Given the description of an element on the screen output the (x, y) to click on. 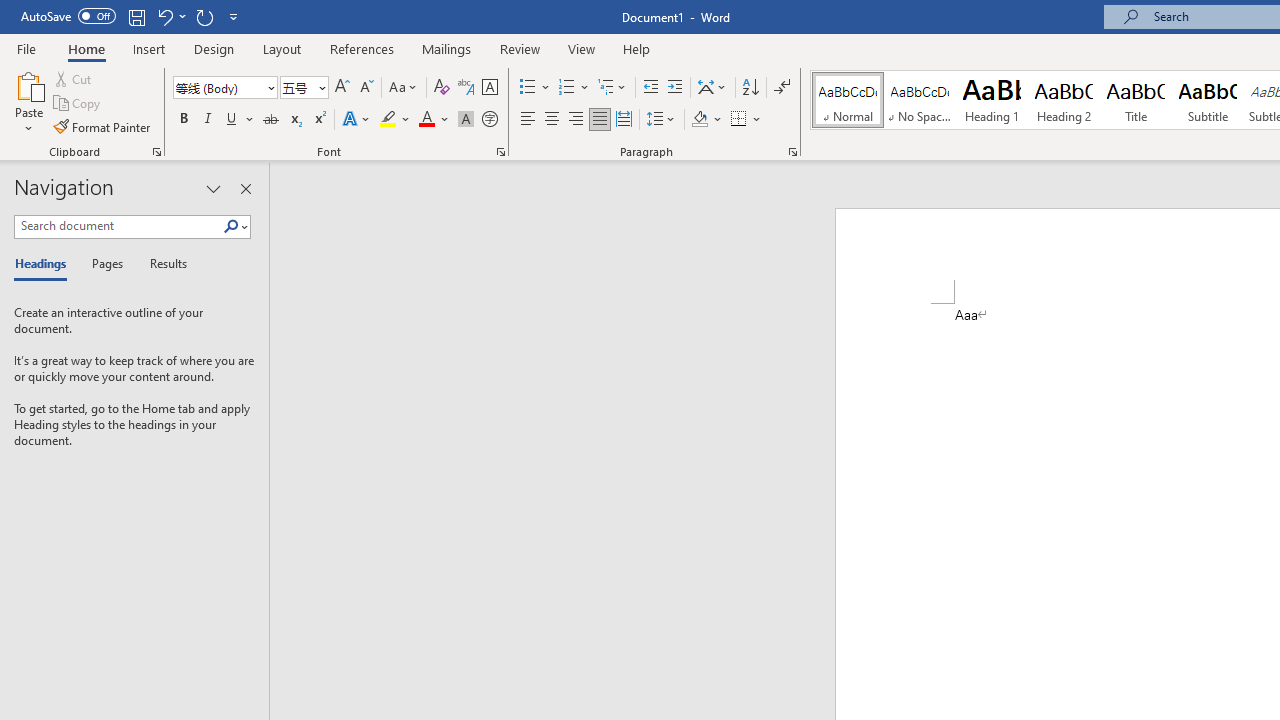
Repeat Typing (204, 15)
Subtitle (1208, 100)
